Given the description of an element on the screen output the (x, y) to click on. 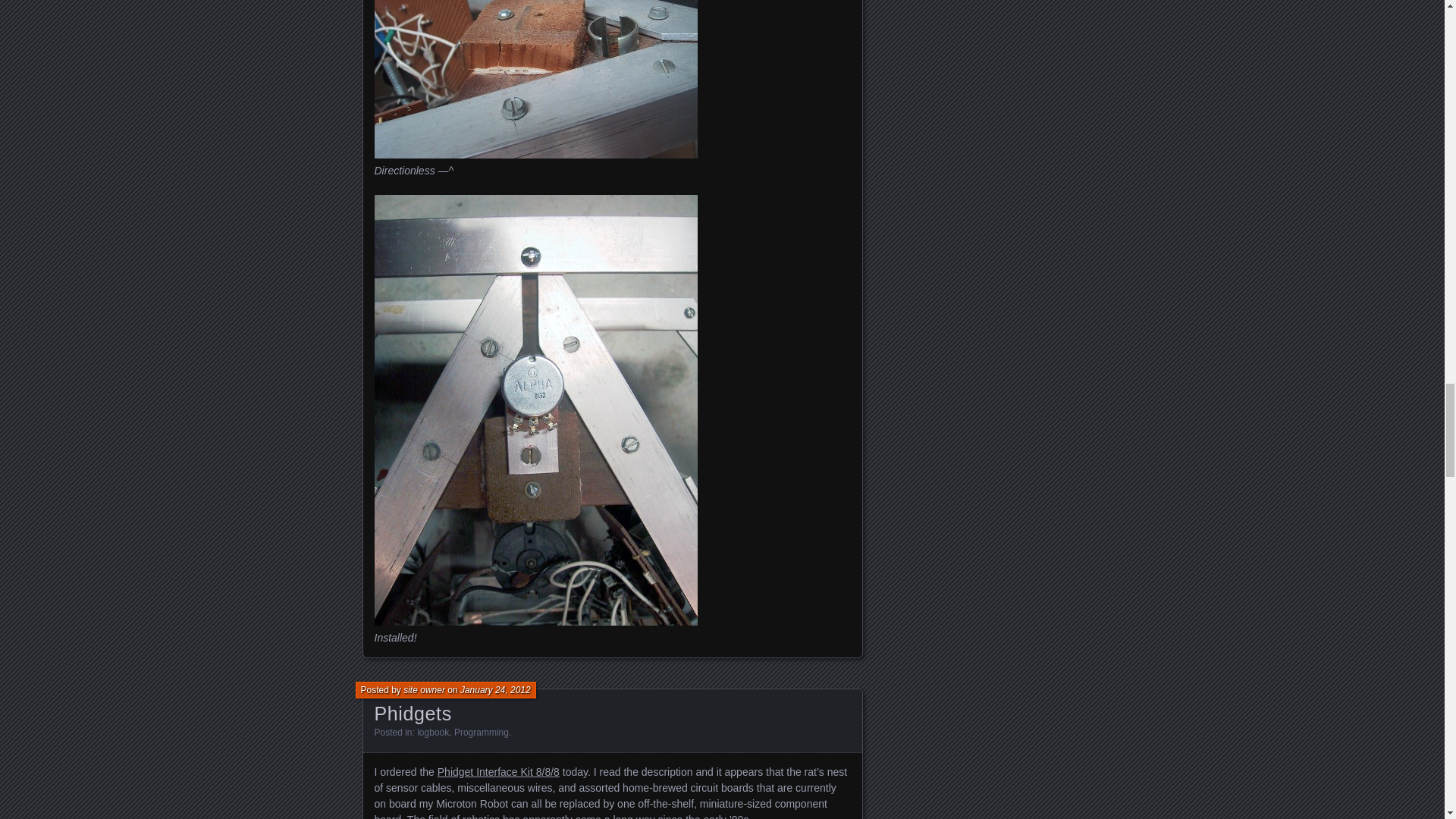
View all posts by site owner (424, 689)
